Given the description of an element on the screen output the (x, y) to click on. 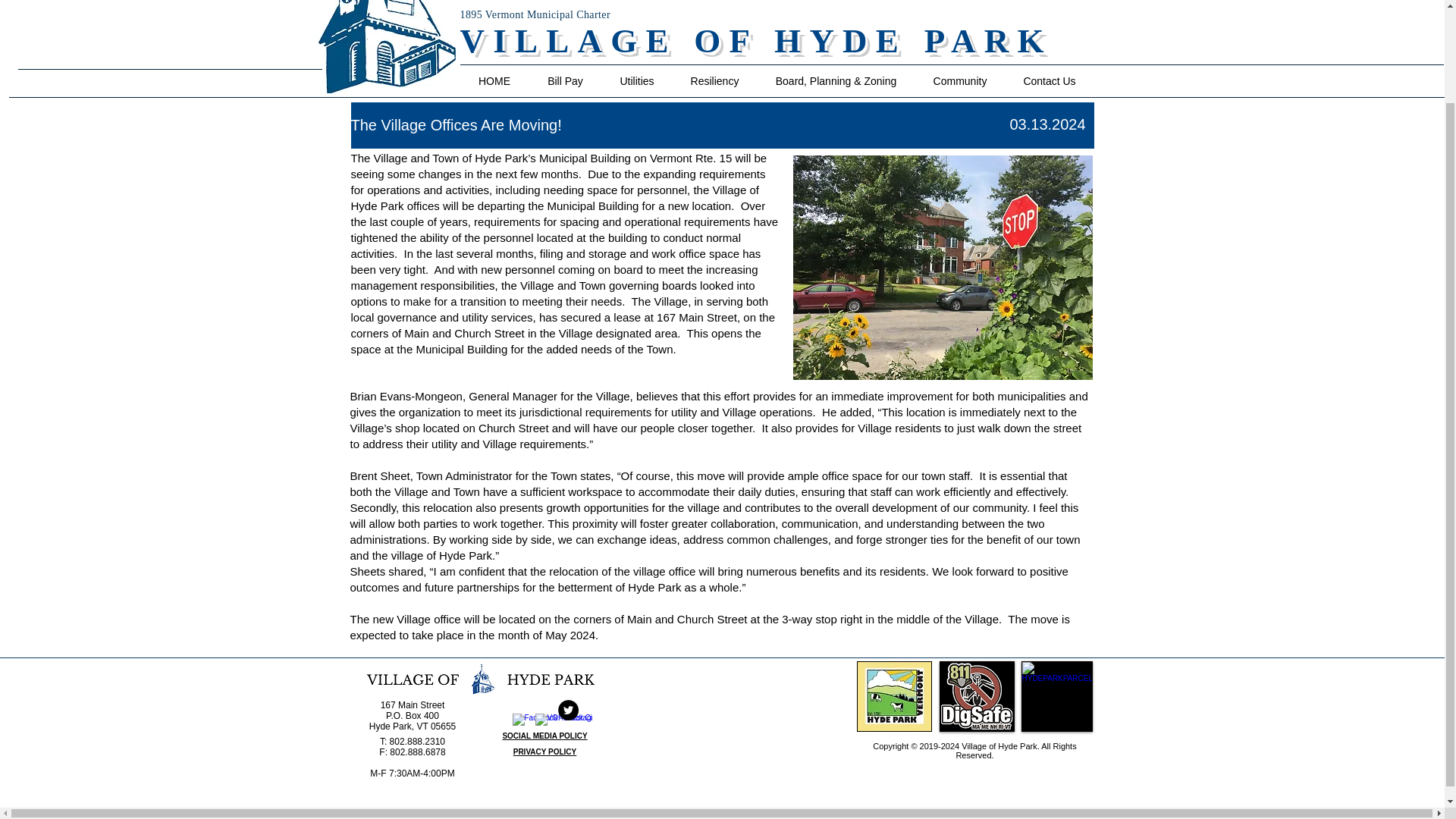
Contact Us (1050, 81)
Community (959, 81)
Bill Pay (565, 81)
VILLAGE OF HYDE PARK (755, 40)
HOME (494, 81)
PRIVACY POLICY (544, 751)
Village of.png (482, 677)
Resiliency (714, 81)
